Given the description of an element on the screen output the (x, y) to click on. 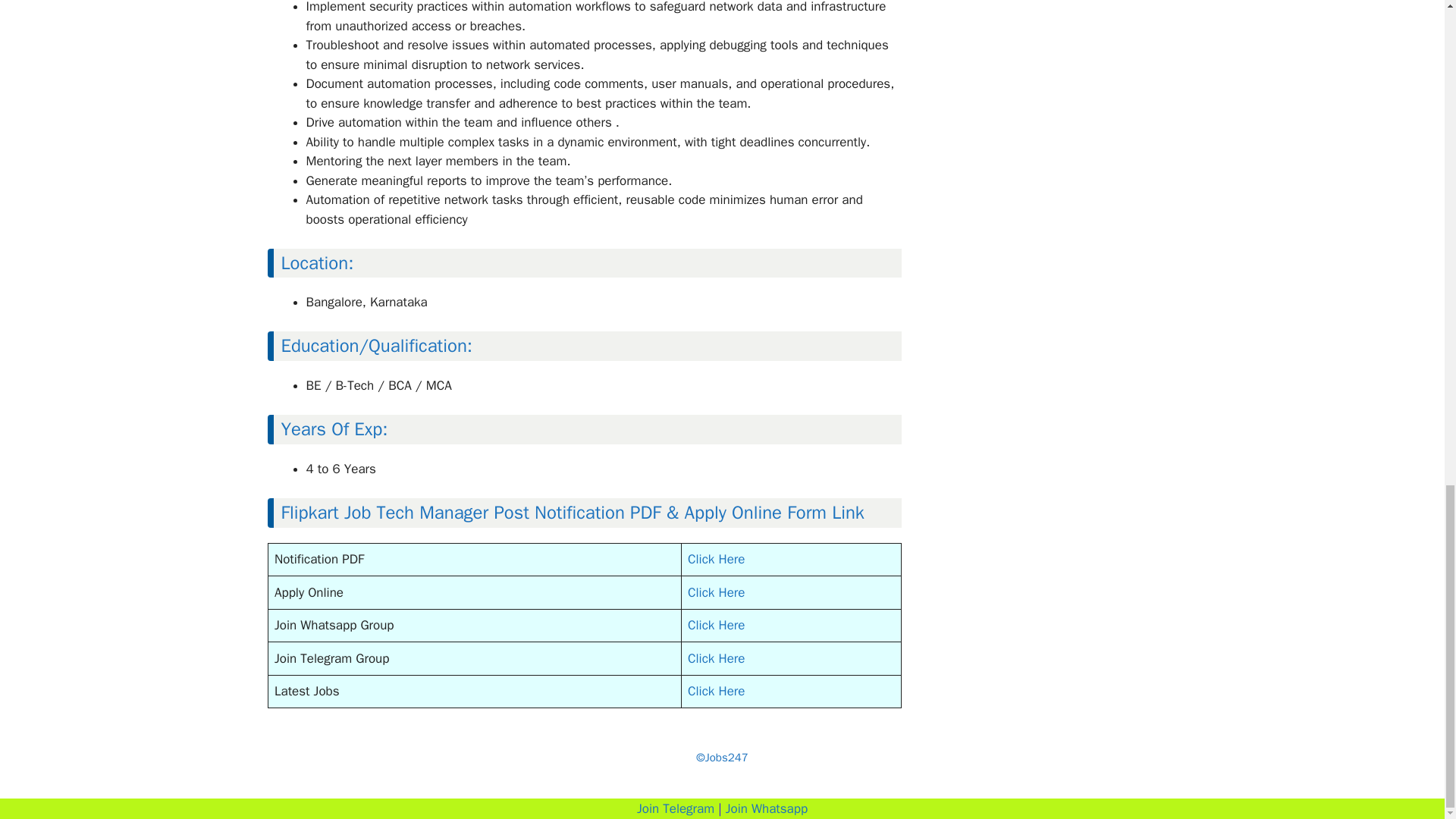
Join Whatsapp (766, 808)
Click Here (715, 691)
Click Here (715, 559)
Click Here (715, 625)
Click Here (715, 592)
Join Telegram (675, 808)
Click Here (715, 658)
